Given the description of an element on the screen output the (x, y) to click on. 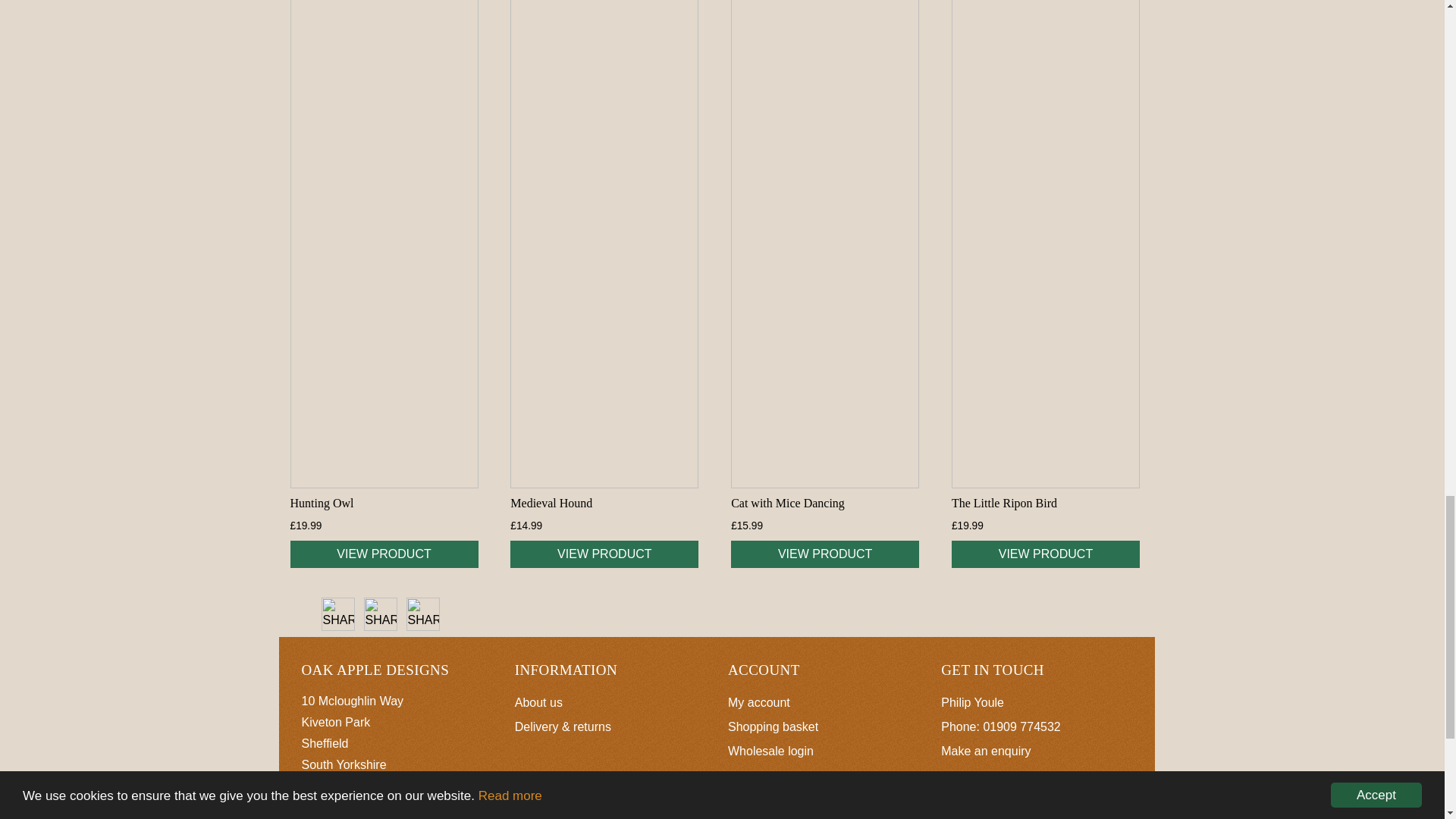
VIEW PRODUCT (383, 554)
